Given the description of an element on the screen output the (x, y) to click on. 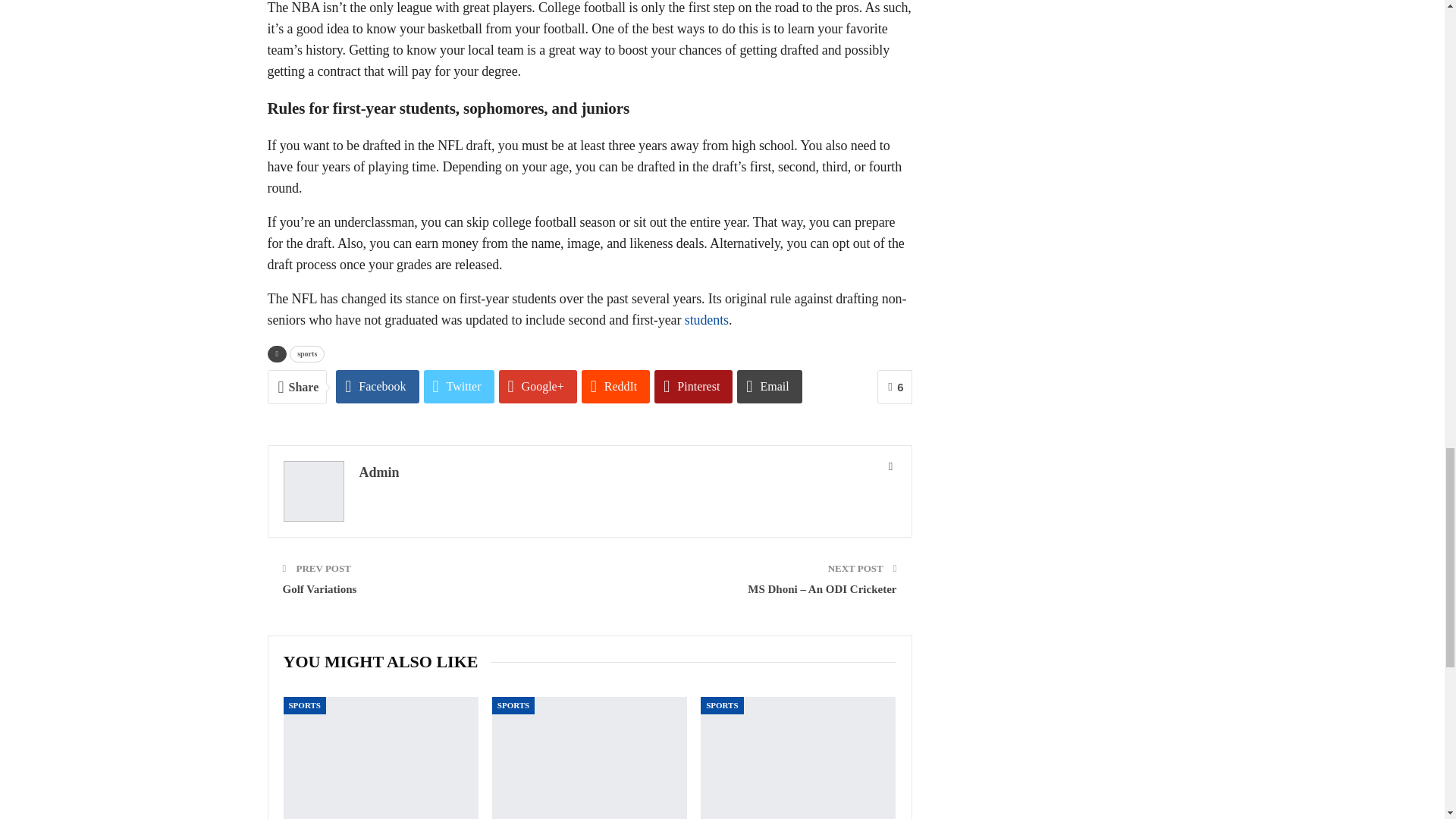
What Should You Do If You Win the Lottery? (589, 757)
Sports Betting in Turkey (381, 757)
How Does Slots Work? (797, 757)
